Given the description of an element on the screen output the (x, y) to click on. 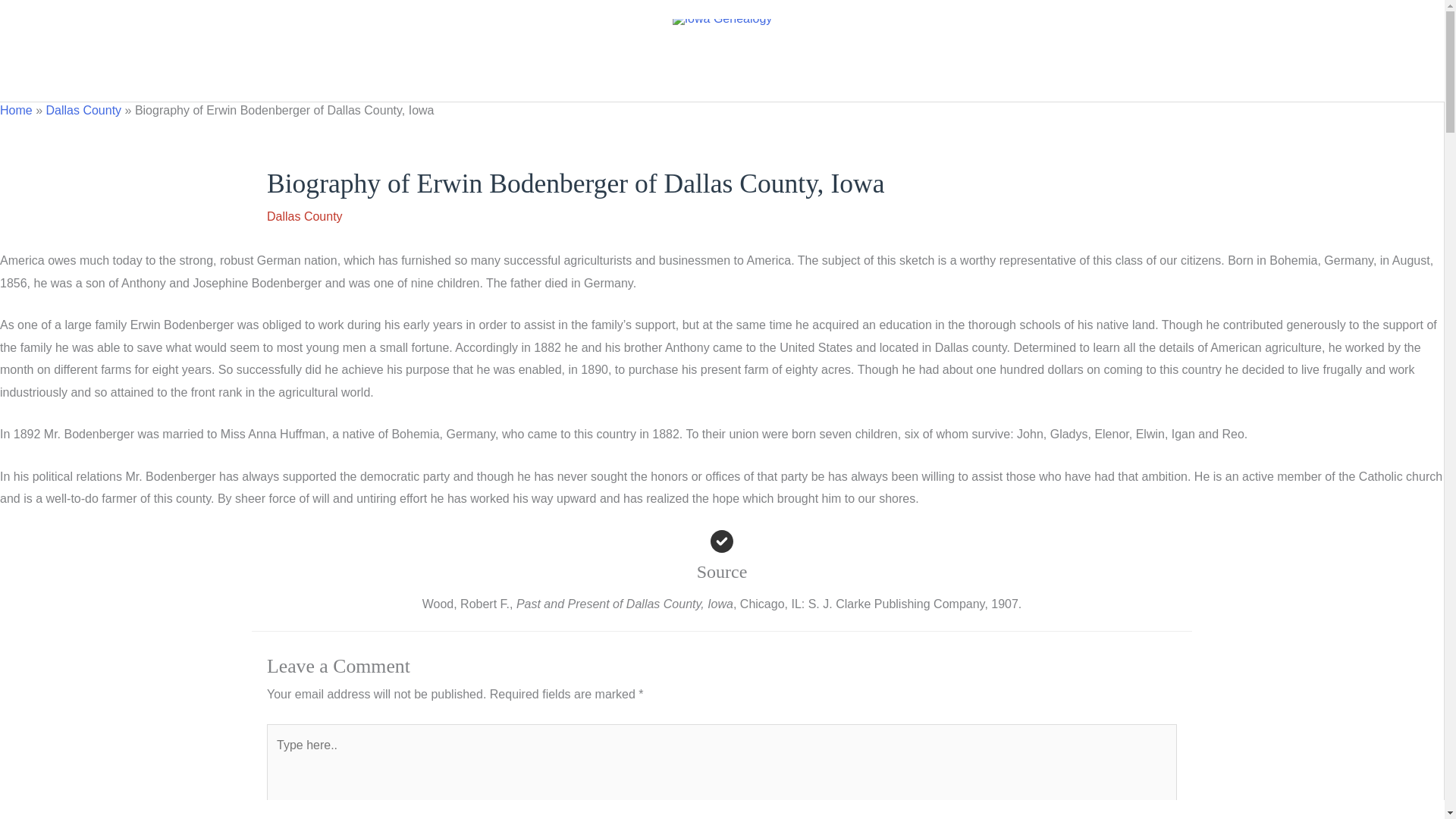
Sac (707, 77)
Contact Us! (853, 77)
Woodbury (769, 77)
Harrison (581, 77)
Dallas County (304, 215)
Home (16, 110)
Dallas County (82, 110)
Monona (651, 77)
